Given the description of an element on the screen output the (x, y) to click on. 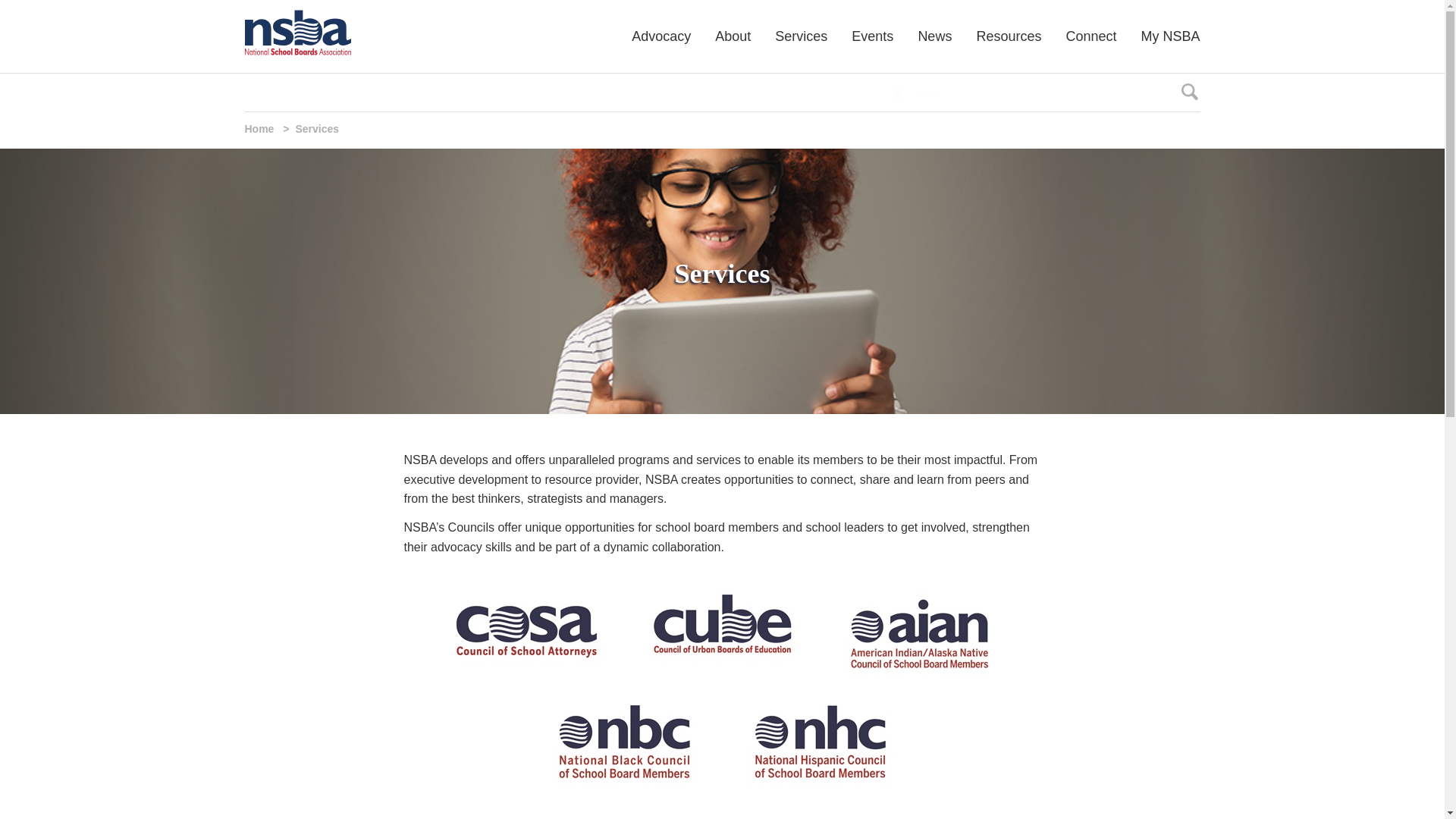
Advocacy (661, 36)
Resources (1007, 36)
About (732, 36)
My NSBA (1163, 36)
Home (260, 128)
News (934, 36)
Events (872, 36)
Connect (1090, 36)
Services (801, 36)
